Given the description of an element on the screen output the (x, y) to click on. 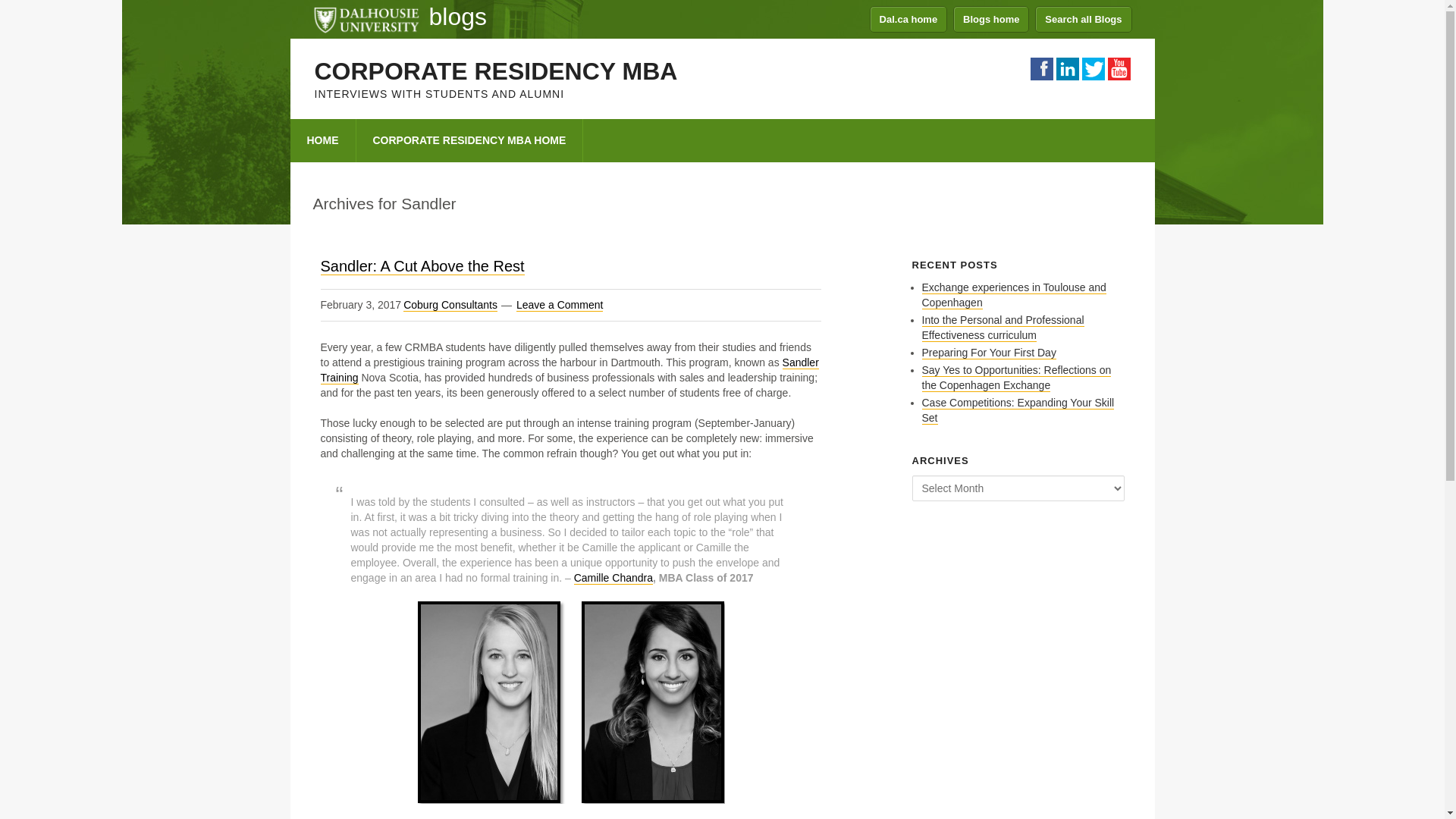
Coburg Consultants (450, 305)
Into the Personal and Professional Effectiveness curriculum (1002, 327)
Dal.ca home (908, 18)
blogs (458, 16)
Preparing For Your First Day (989, 352)
Dalhousie University (365, 18)
Leave a Comment (559, 305)
X (1117, 68)
CORPORATE RESIDENCY MBA (495, 71)
I (1066, 68)
